Given the description of an element on the screen output the (x, y) to click on. 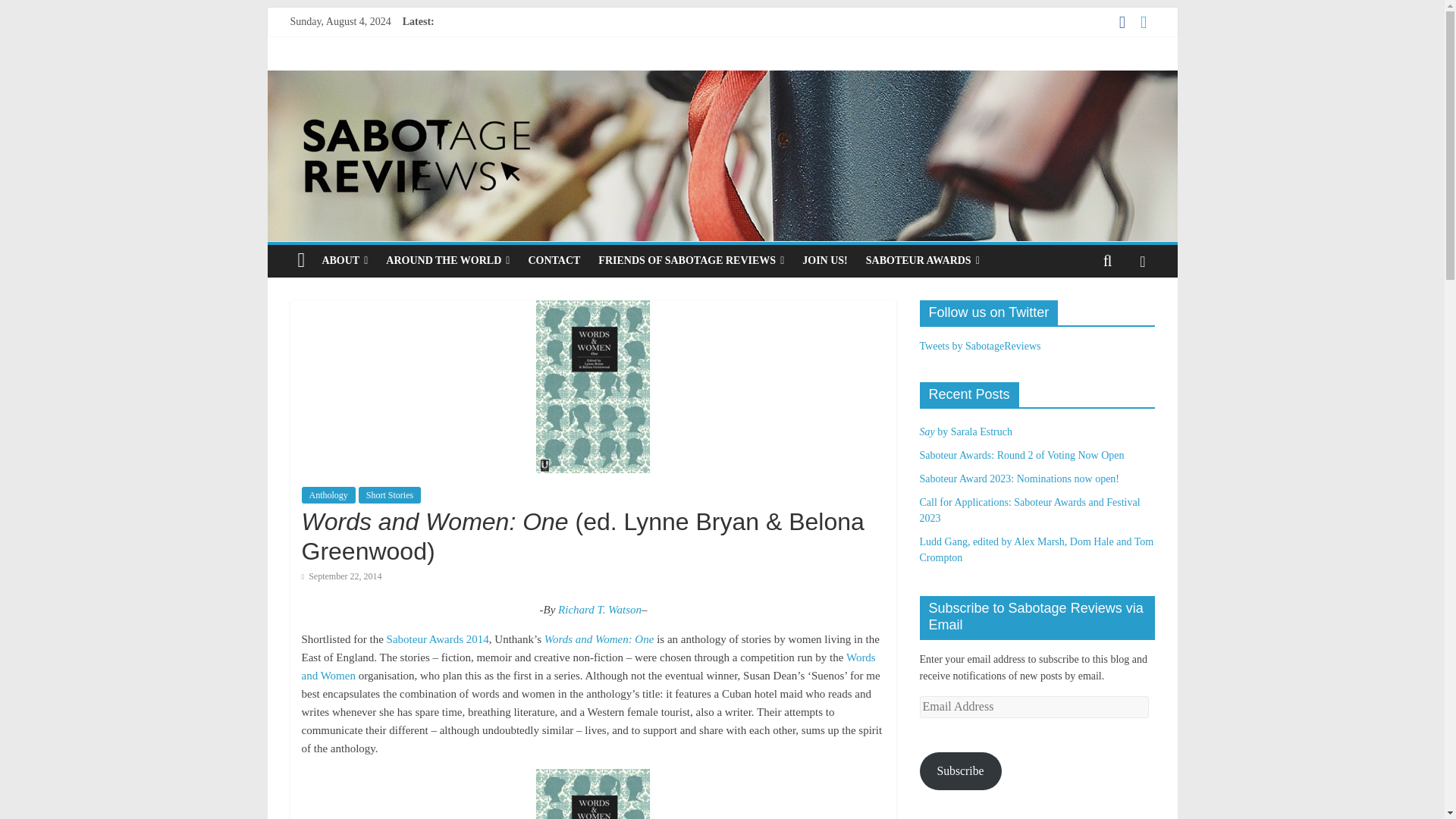
JOIN US! (825, 260)
September 22, 2014 (341, 575)
CONTACT (553, 260)
FRIENDS OF SABOTAGE REVIEWS (691, 260)
Anthology (328, 494)
SABOTEUR AWARDS (922, 260)
ABOUT (345, 260)
10:50 am (341, 575)
AROUND THE WORLD (447, 260)
Short Stories (389, 494)
Saboteur Awards 2014 shortlist (438, 639)
Words and Women: One online (598, 639)
Words and Women online (588, 666)
